Given the description of an element on the screen output the (x, y) to click on. 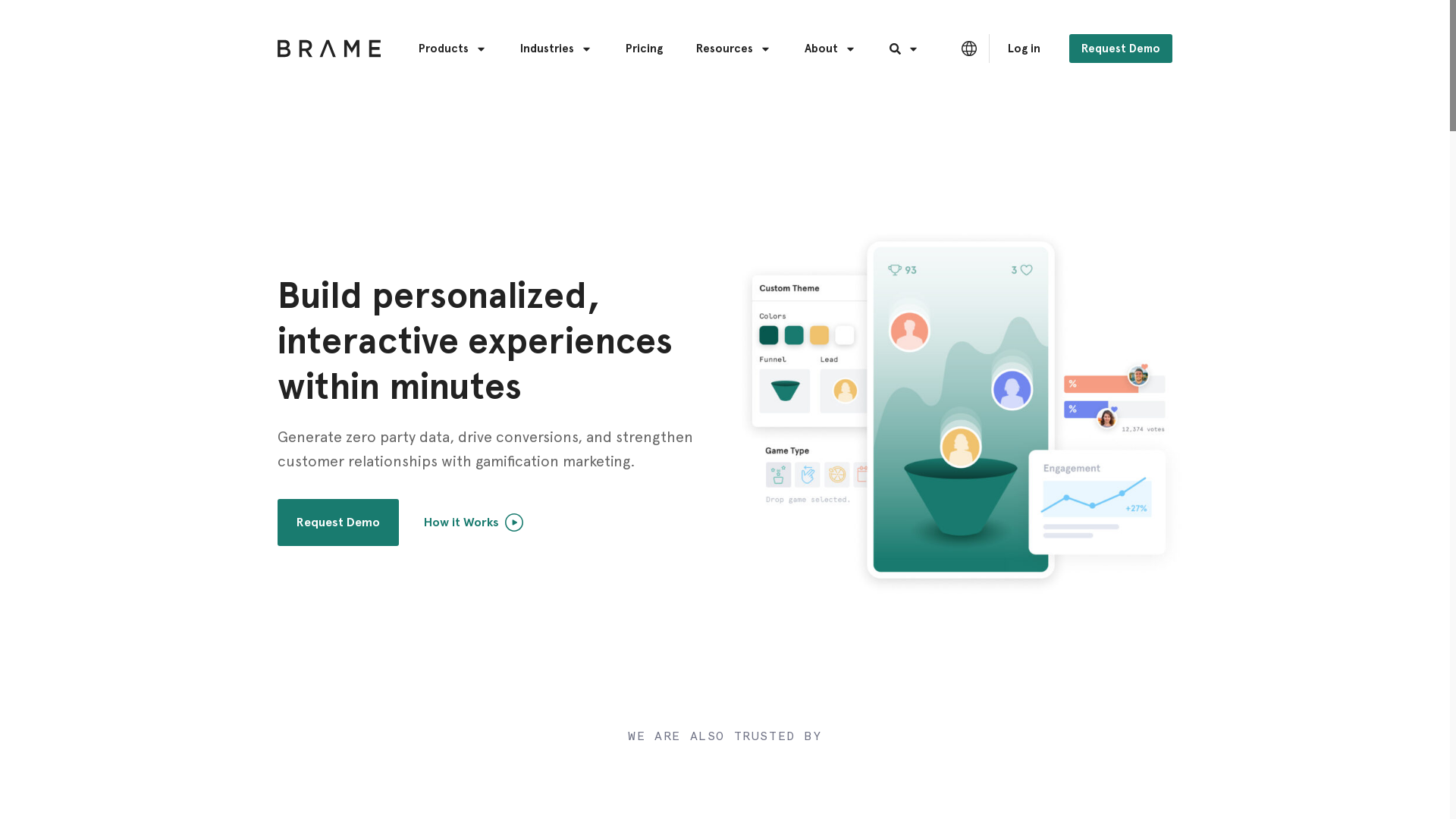
Log in Element type: text (1023, 48)
Request Demo Element type: text (337, 522)
Brame Home 1 | Brame Element type: hover (962, 409)
Request Demo Element type: text (1120, 48)
How it Works Element type: text (463, 522)
Pricing Element type: text (643, 48)
